Given the description of an element on the screen output the (x, y) to click on. 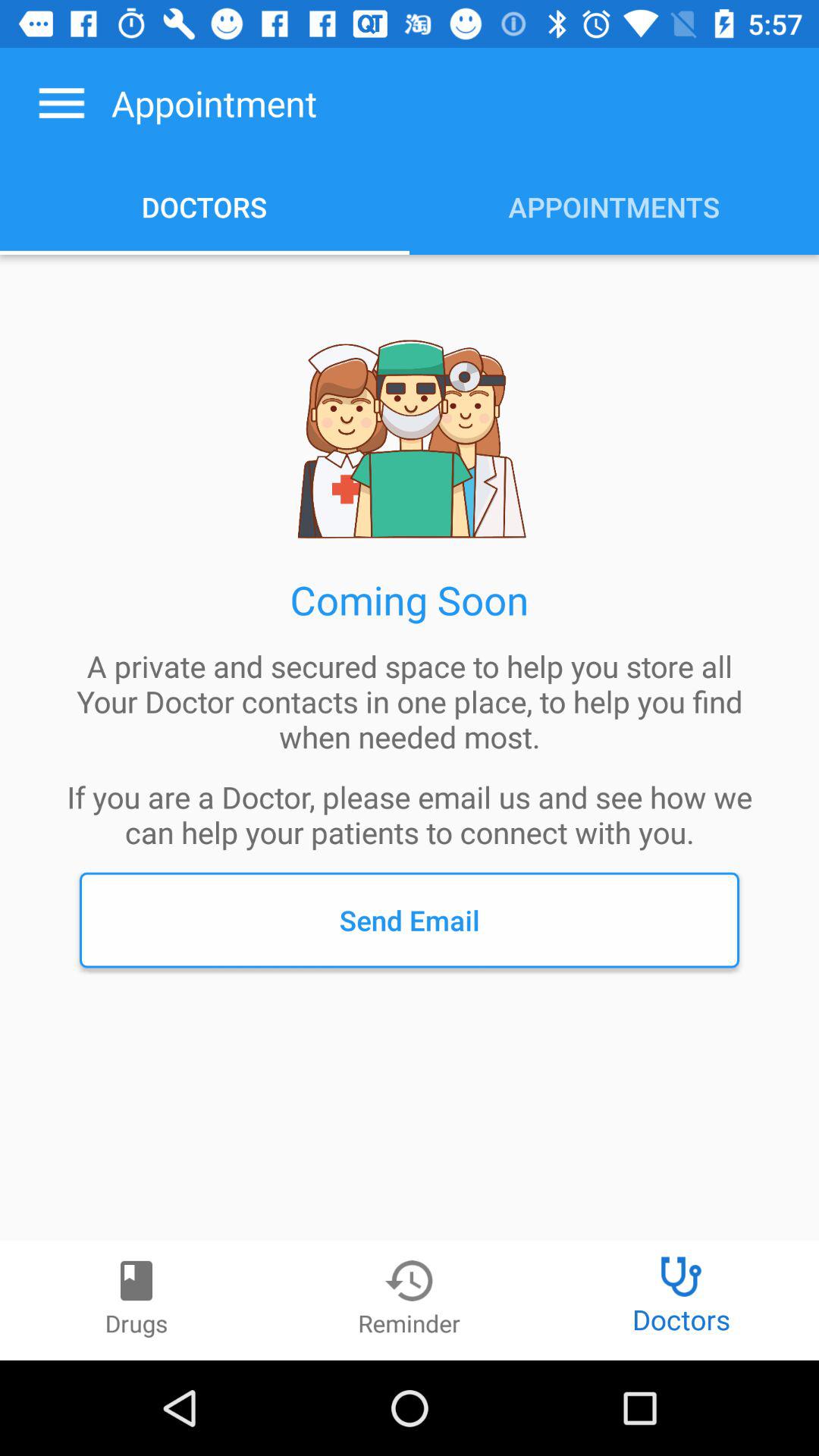
turn on the item next to the appointment icon (61, 103)
